Given the description of an element on the screen output the (x, y) to click on. 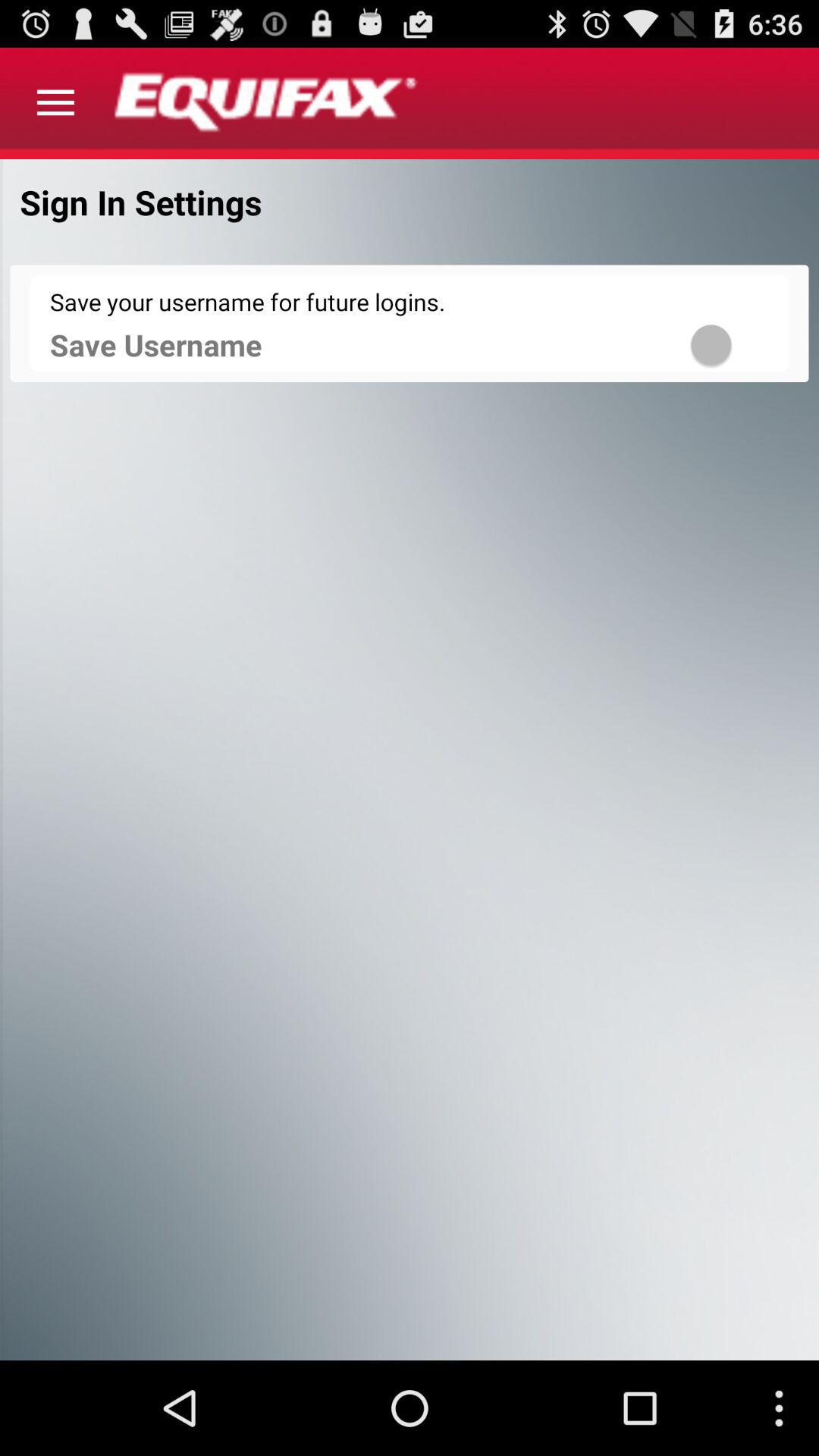
toggle save username for login (731, 344)
